Given the description of an element on the screen output the (x, y) to click on. 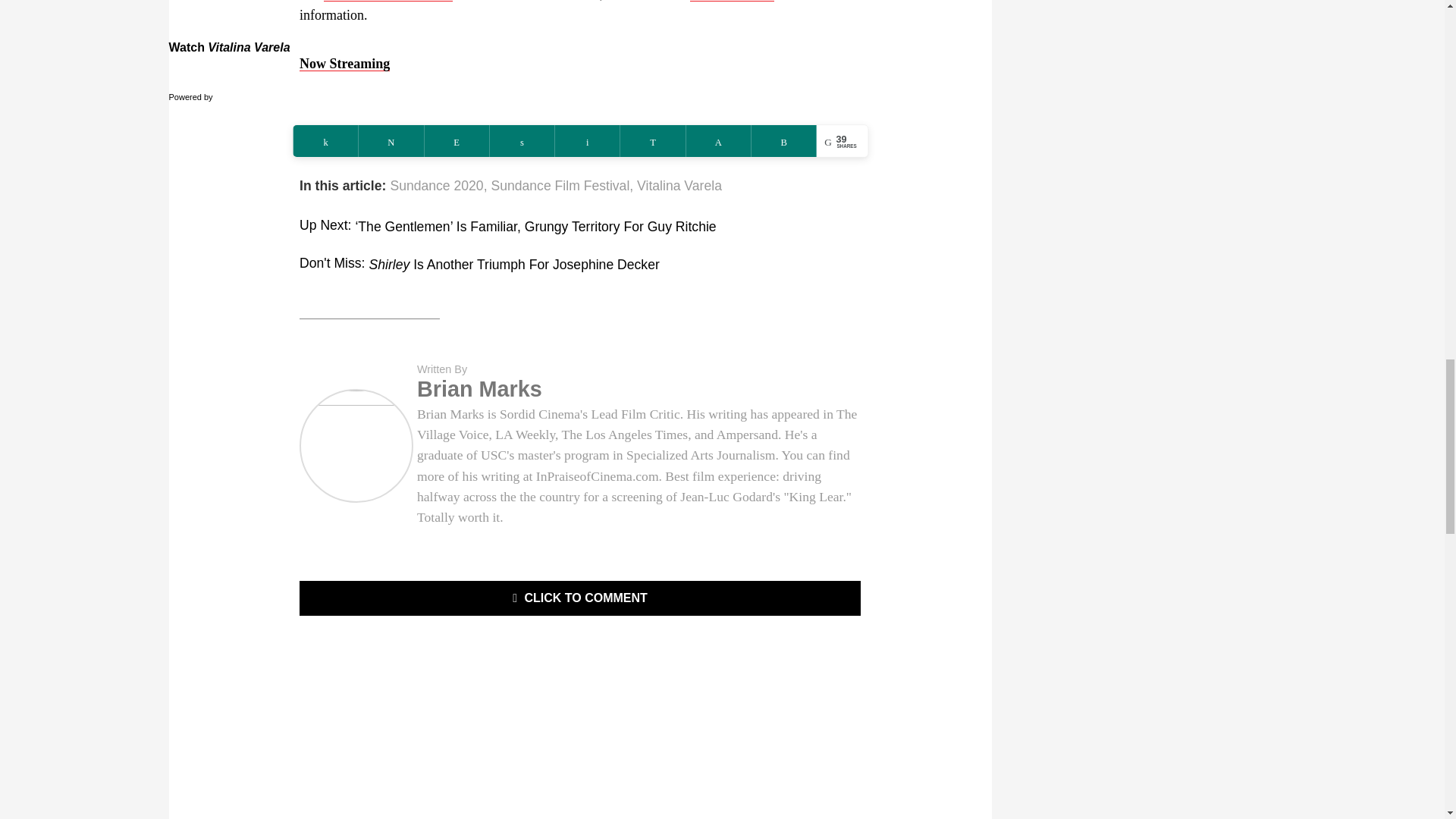
Powered by JustWatch (217, 96)
Sundance Film Festival (387, 0)
official website (732, 0)
Posts by Brian Marks (478, 388)
Now Streaming (344, 63)
